Given the description of an element on the screen output the (x, y) to click on. 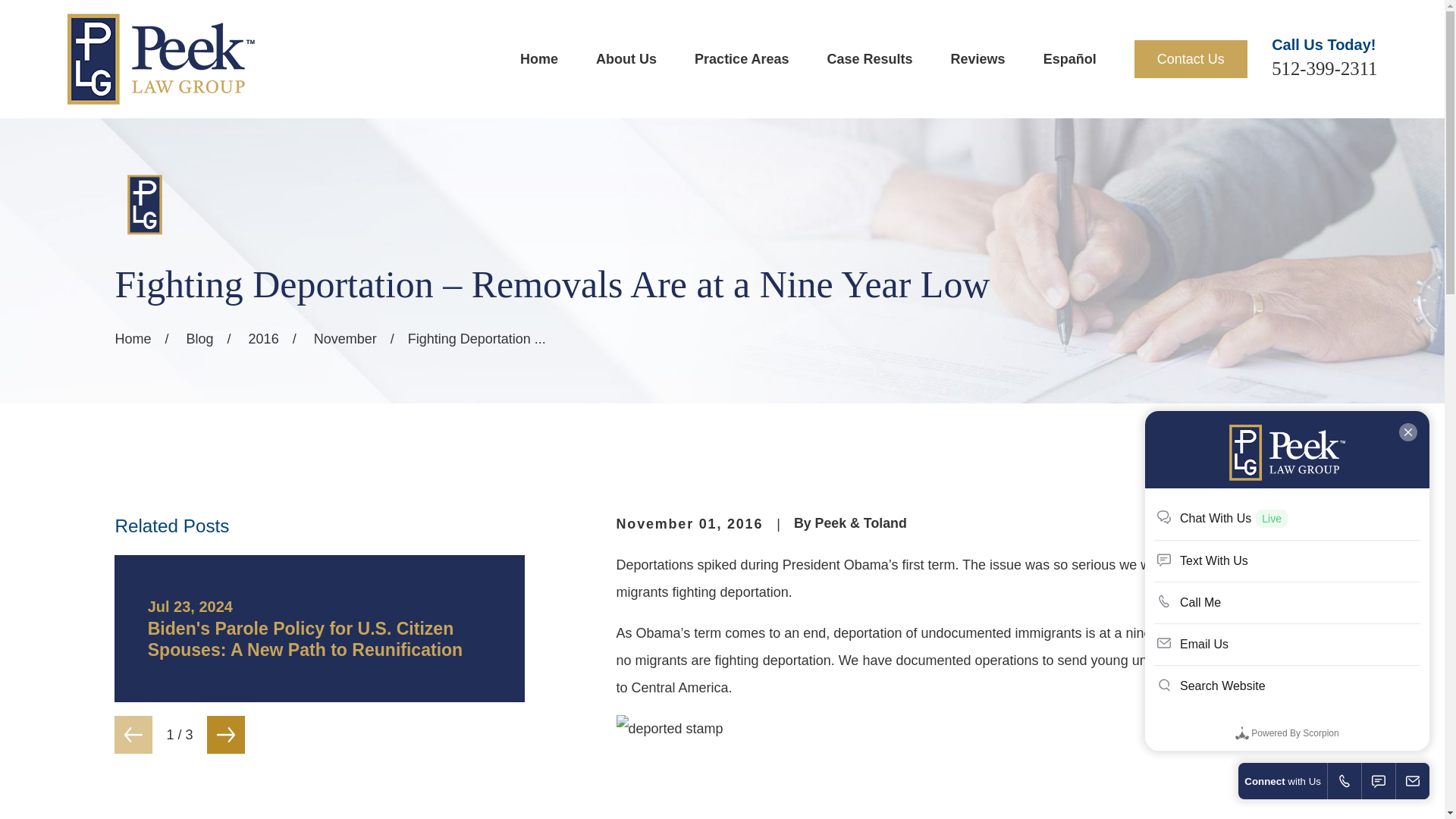
Reviews (978, 59)
View next item (225, 734)
Practice Areas (741, 59)
About Us (625, 59)
Go Home (133, 338)
Home (159, 58)
Case Results (869, 59)
View previous item (133, 734)
